Given the description of an element on the screen output the (x, y) to click on. 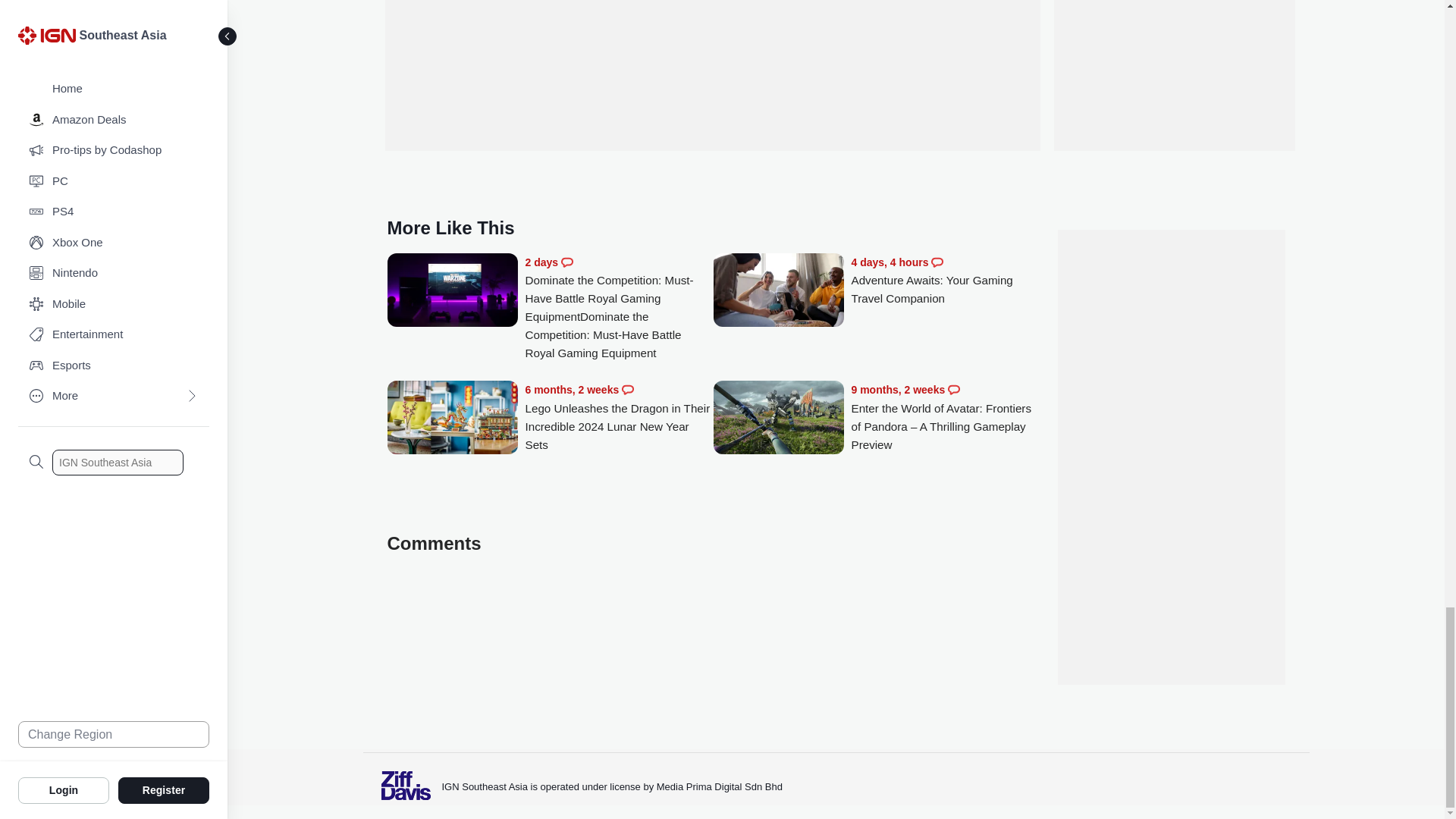
Comments (566, 262)
Comments (937, 262)
Adventure Awaits: Your Gaming Travel Companion (944, 280)
Adventure Awaits: Your Gaming Travel Companion (778, 291)
Comments (627, 389)
